Given the description of an element on the screen output the (x, y) to click on. 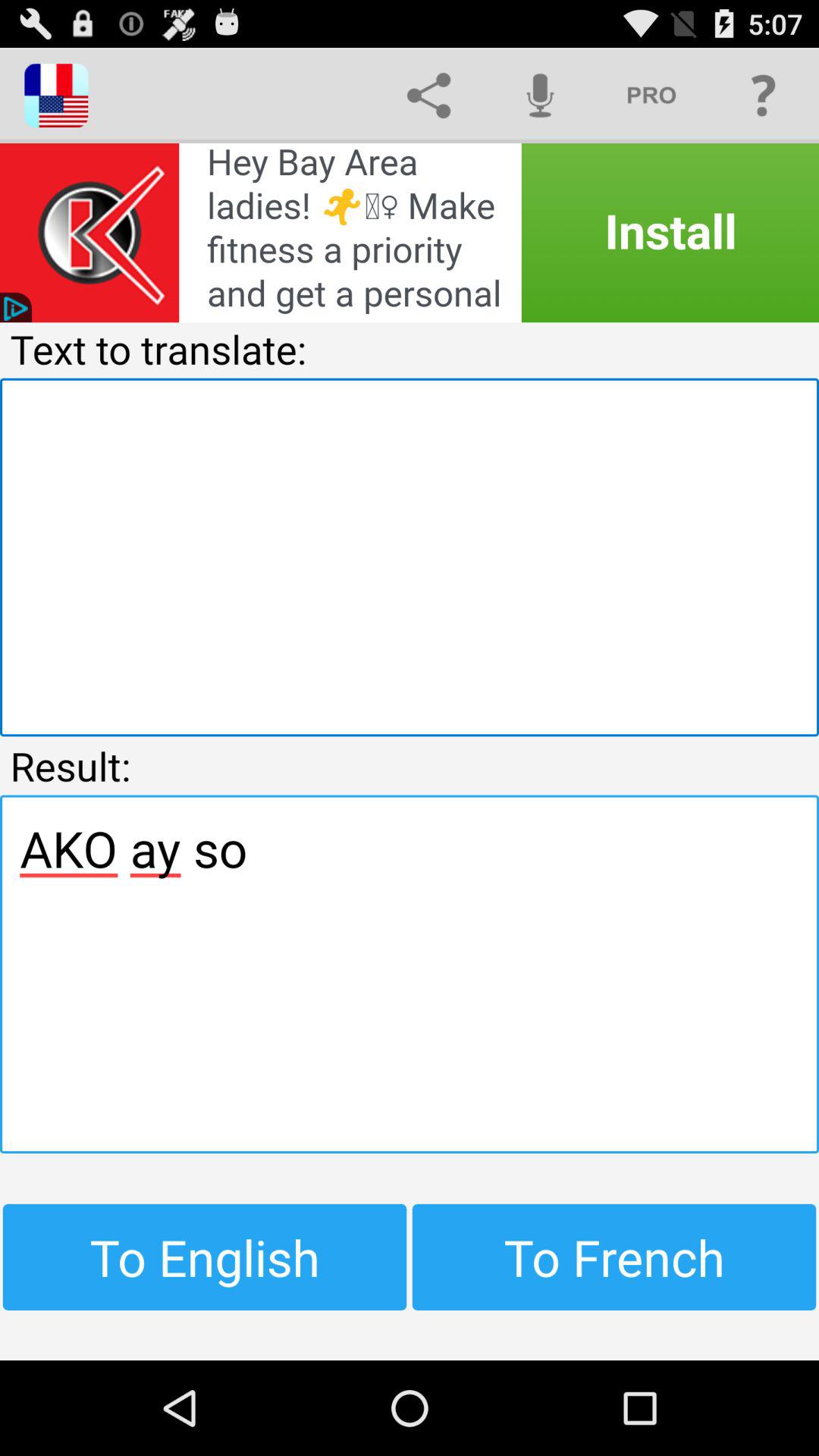
open the icon next to the to english button (614, 1257)
